Given the description of an element on the screen output the (x, y) to click on. 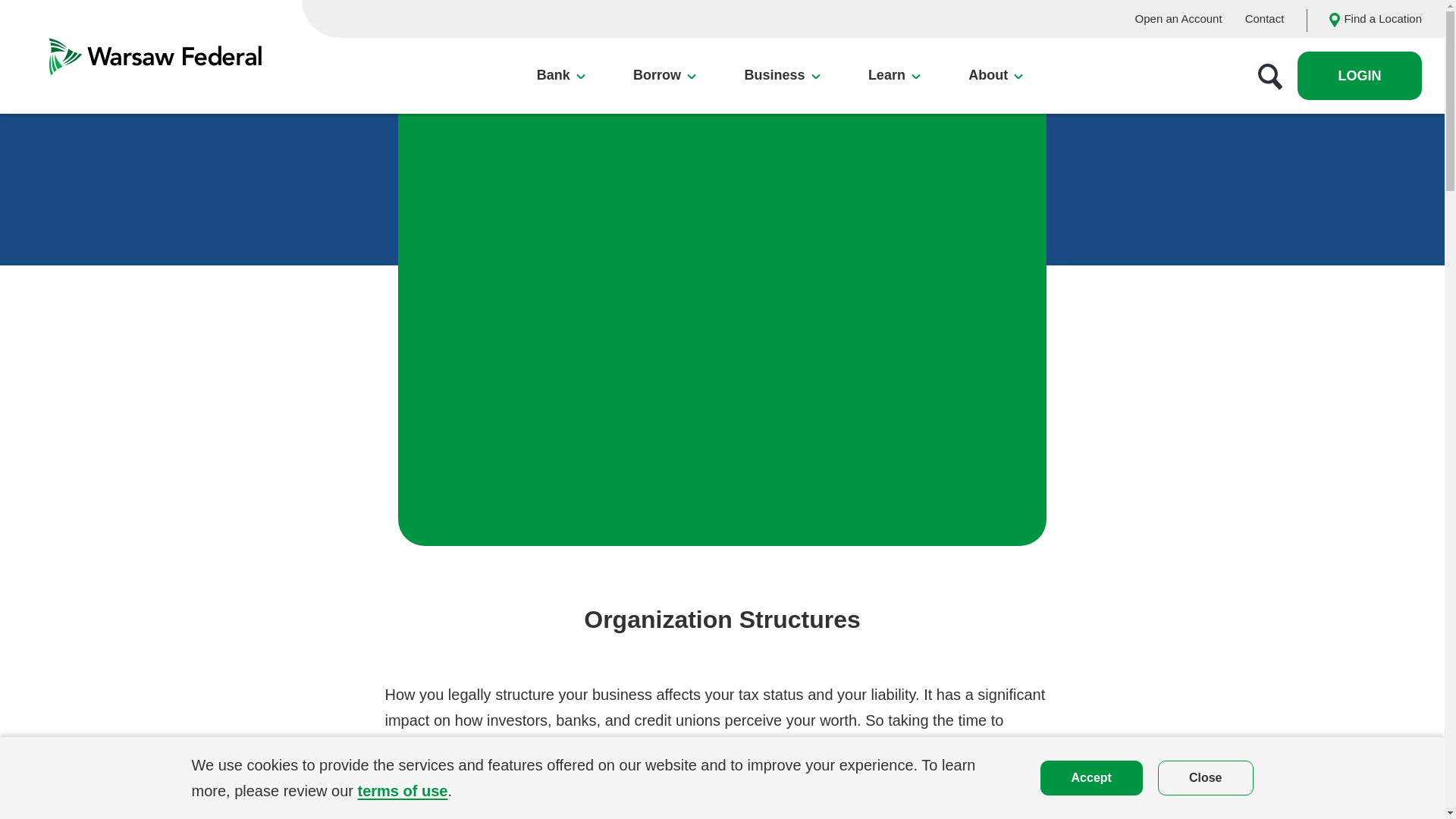
Certificates of Deposit (414, 250)
Open an Account (1179, 18)
Homeownership Resources (598, 258)
Business (781, 75)
Mobile Banking (595, 240)
Close (1205, 777)
Online Banking (595, 213)
Savings Accounts (414, 214)
